Given the description of an element on the screen output the (x, y) to click on. 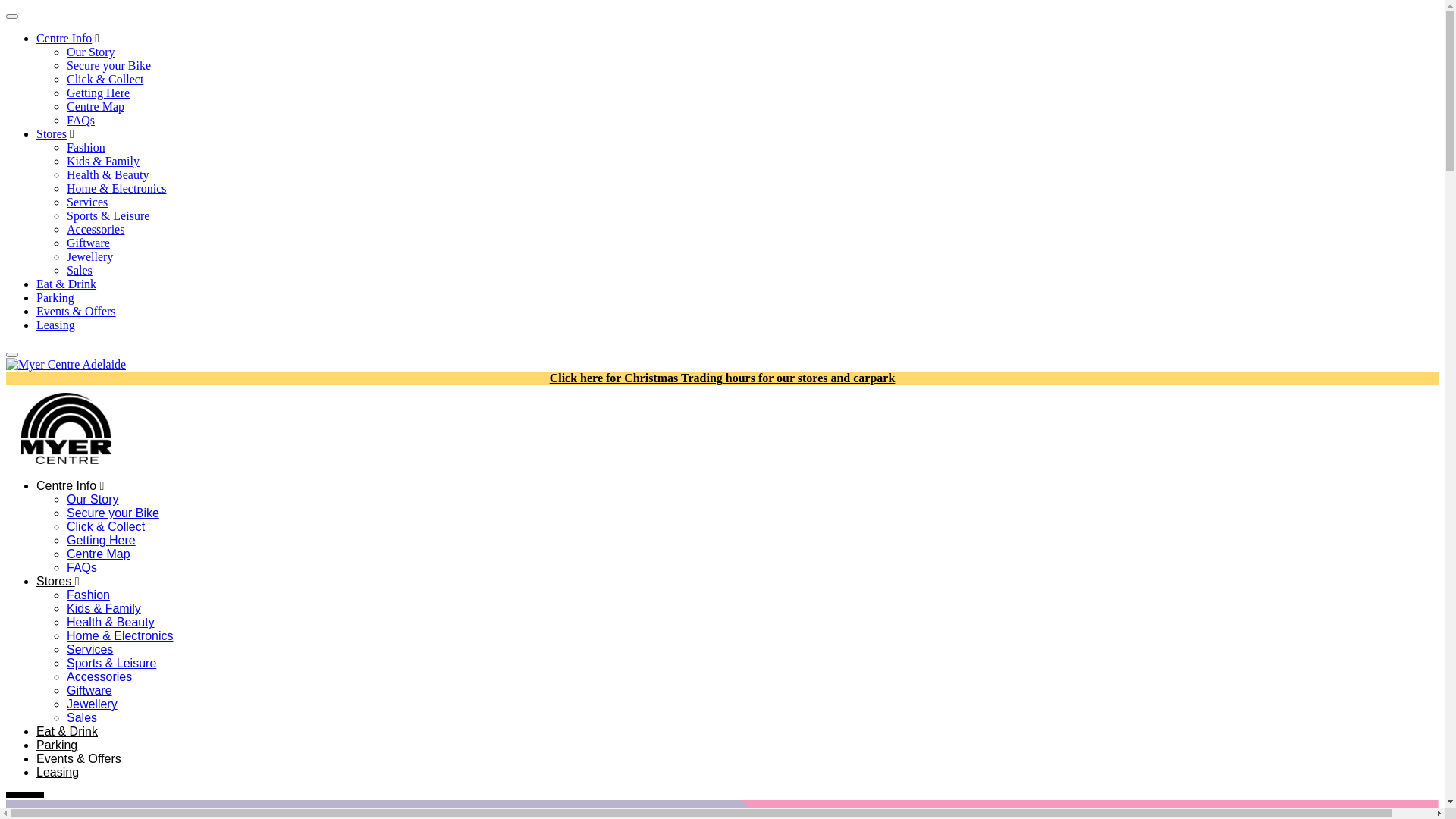
Eat & Drink Element type: text (66, 730)
Centre Map Element type: text (98, 553)
Eat & Drink Element type: text (66, 283)
Home & Electronics Element type: text (116, 188)
Our Story Element type: text (90, 51)
Fashion Element type: text (87, 594)
Home & Electronics Element type: text (119, 635)
Centre Info Element type: text (69, 485)
Parking Element type: text (55, 297)
Leasing Element type: text (55, 324)
Kids & Family Element type: text (102, 160)
Click & Collect Element type: text (104, 78)
Parking Element type: text (56, 744)
Health & Beauty Element type: text (107, 174)
Sales Element type: text (81, 717)
Sports & Leisure Element type: text (111, 662)
Stores Element type: text (51, 133)
FAQs Element type: text (80, 119)
Click & Collect Element type: text (105, 526)
Stores Element type: text (57, 580)
Getting Here Element type: text (97, 92)
Leasing Element type: text (57, 771)
Fashion Element type: text (85, 147)
Accessories Element type: text (95, 228)
Events & Offers Element type: text (78, 758)
Sports & Leisure Element type: text (107, 215)
Secure your Bike Element type: text (112, 512)
Services Element type: text (89, 649)
Secure your Bike Element type: text (108, 65)
Jewellery Element type: text (89, 256)
Services Element type: text (86, 201)
Centre Map Element type: text (95, 106)
Giftware Element type: text (89, 690)
Giftware Element type: text (87, 242)
Centre Info Element type: text (63, 37)
Getting Here Element type: text (100, 539)
FAQs Element type: text (81, 567)
Events & Offers Element type: text (76, 310)
Accessories Element type: text (98, 676)
Sales Element type: text (79, 269)
Our Story Element type: text (92, 498)
Jewellery Element type: text (91, 703)
Kids & Family Element type: text (103, 608)
Health & Beauty Element type: text (110, 621)
